Given the description of an element on the screen output the (x, y) to click on. 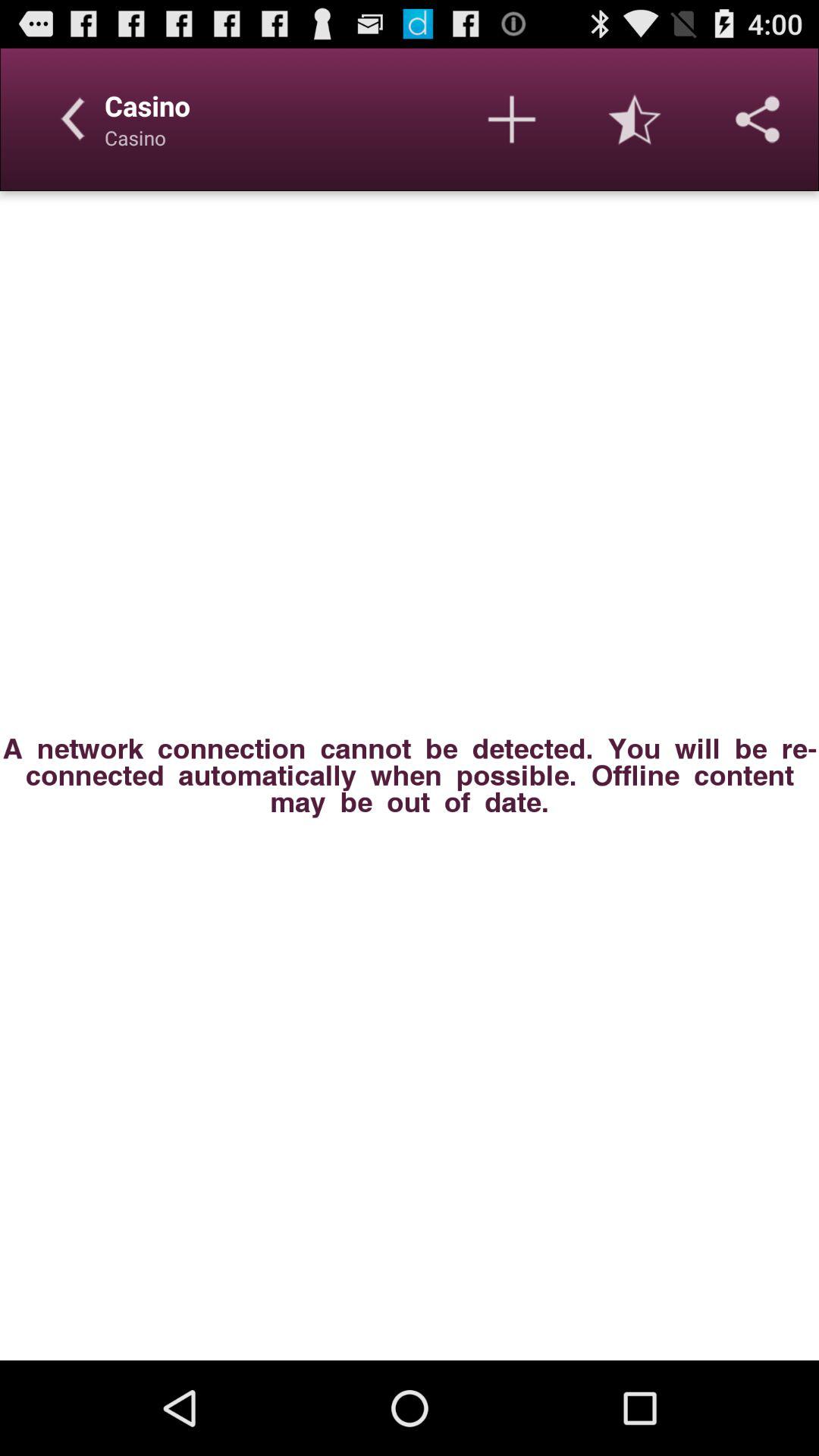
add item to your selections (511, 119)
